Given the description of an element on the screen output the (x, y) to click on. 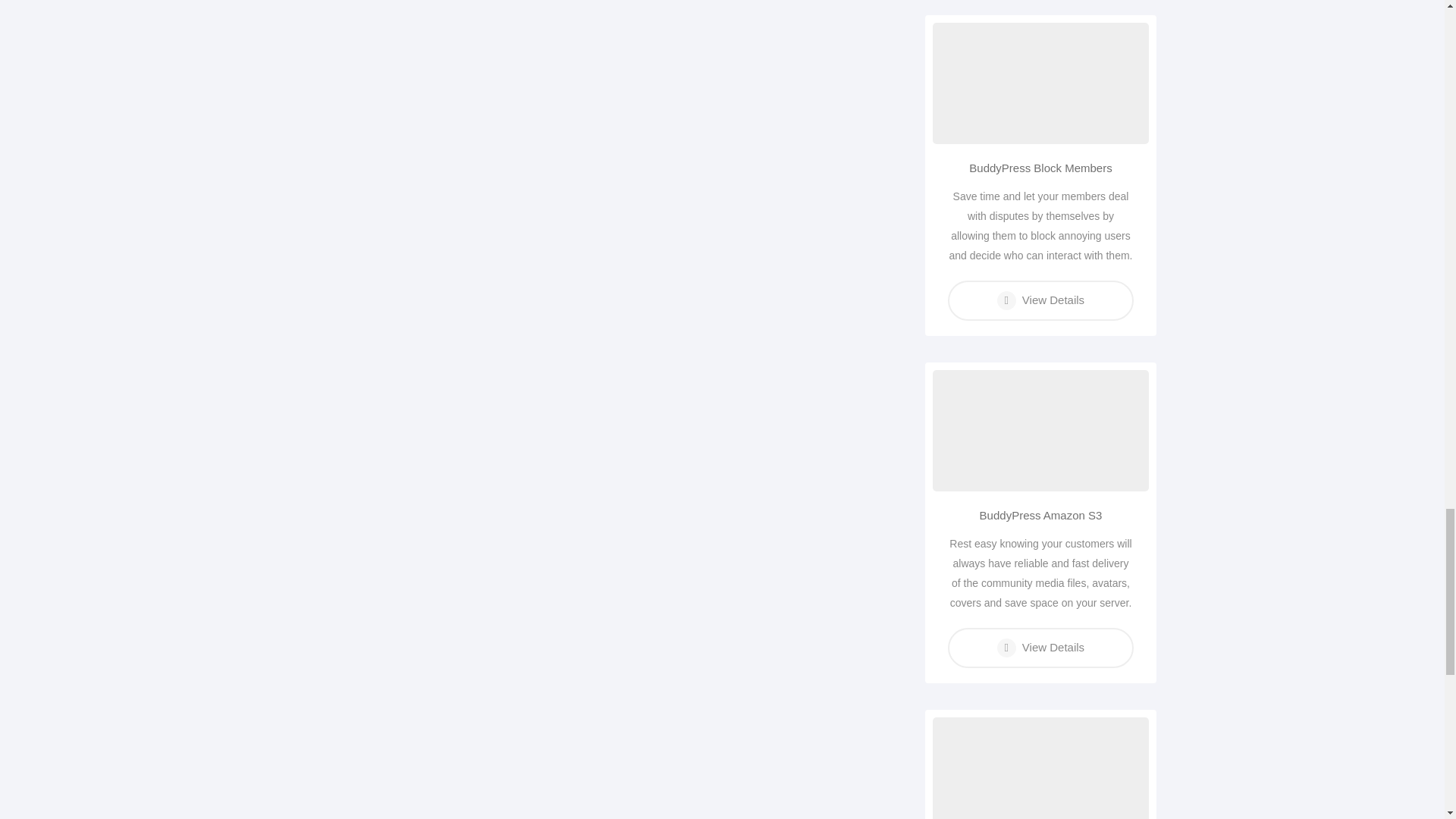
BuddyPress Amazon S3 (1040, 515)
BuddyPress Block Members (1040, 167)
View Details (1040, 300)
View Details (1040, 648)
